Given the description of an element on the screen output the (x, y) to click on. 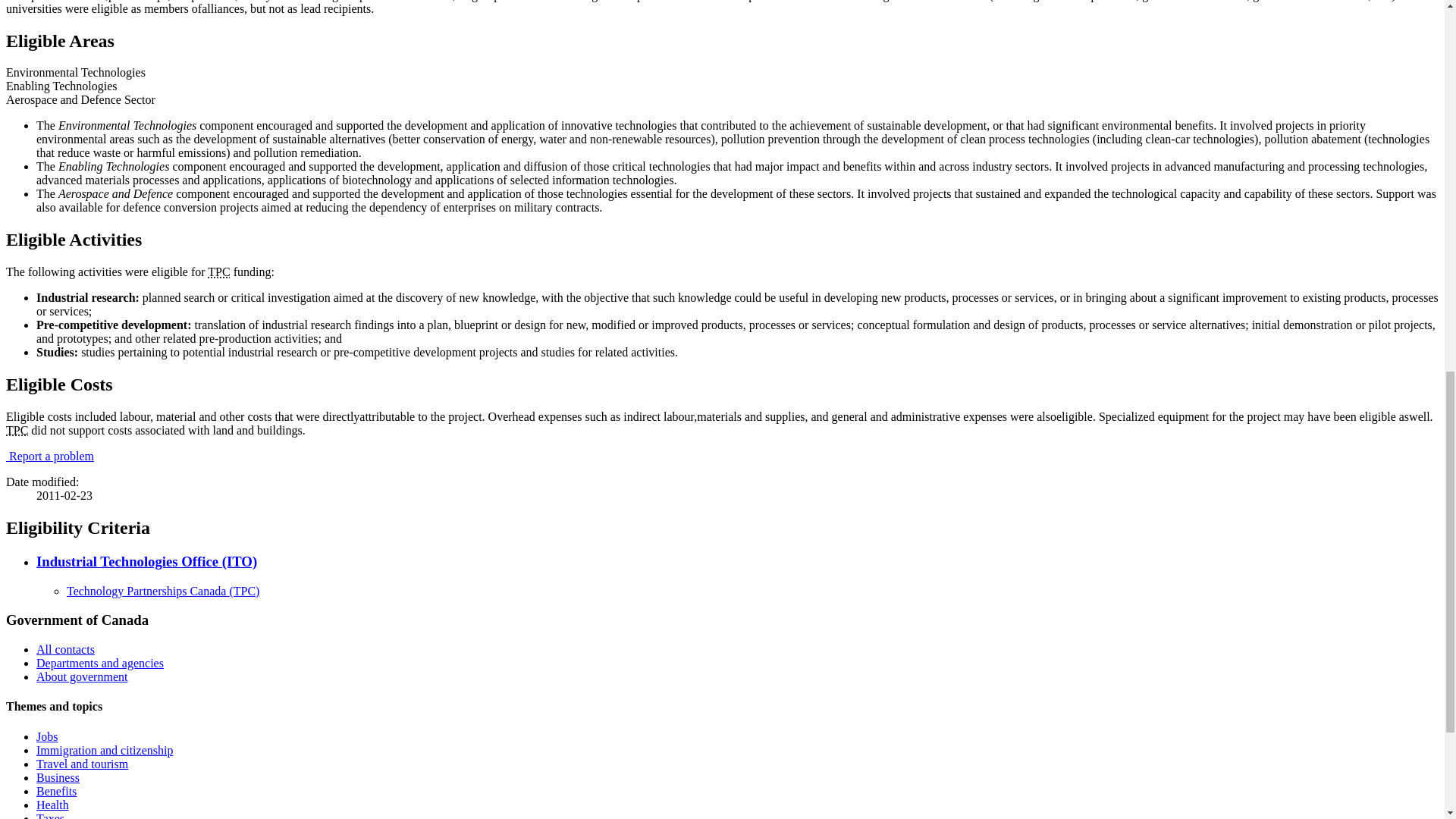
Jobs (47, 736)
Immigration and citizenship (104, 749)
Business (58, 777)
Travel and tourism (82, 763)
Technology Partnerships Canada (16, 430)
Benefits (56, 790)
About government (82, 676)
Departments and agencies (99, 662)
Taxes (50, 815)
All contacts (65, 649)
